Given the description of an element on the screen output the (x, y) to click on. 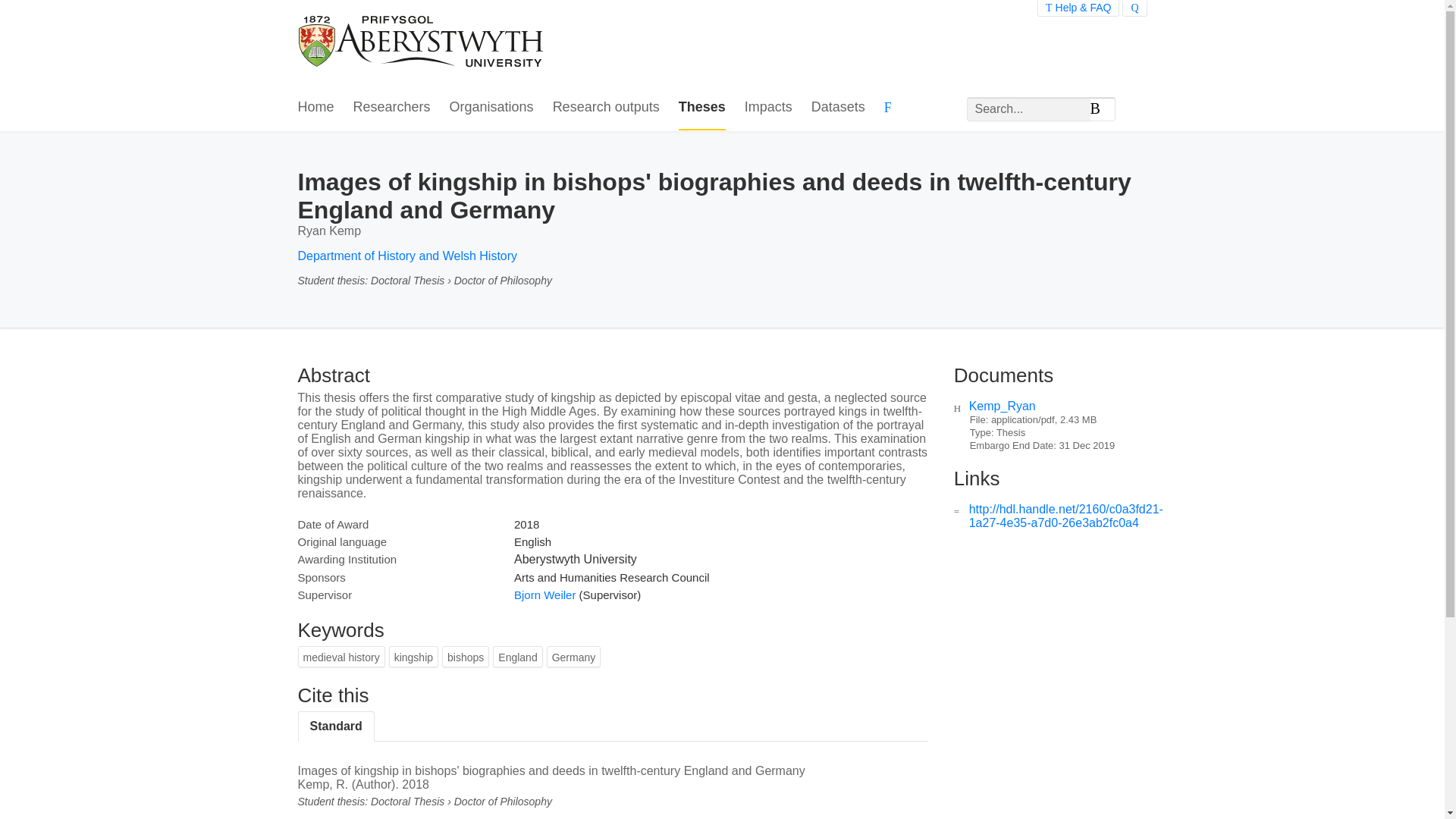
Researchers (391, 107)
Impacts (768, 107)
Research outputs (606, 107)
Theses (701, 107)
Organisations (491, 107)
Bjorn Weiler (544, 594)
Department of History and Welsh History (406, 255)
Datasets (837, 107)
Aberystwyth Research Portal Home (422, 42)
